Given the description of an element on the screen output the (x, y) to click on. 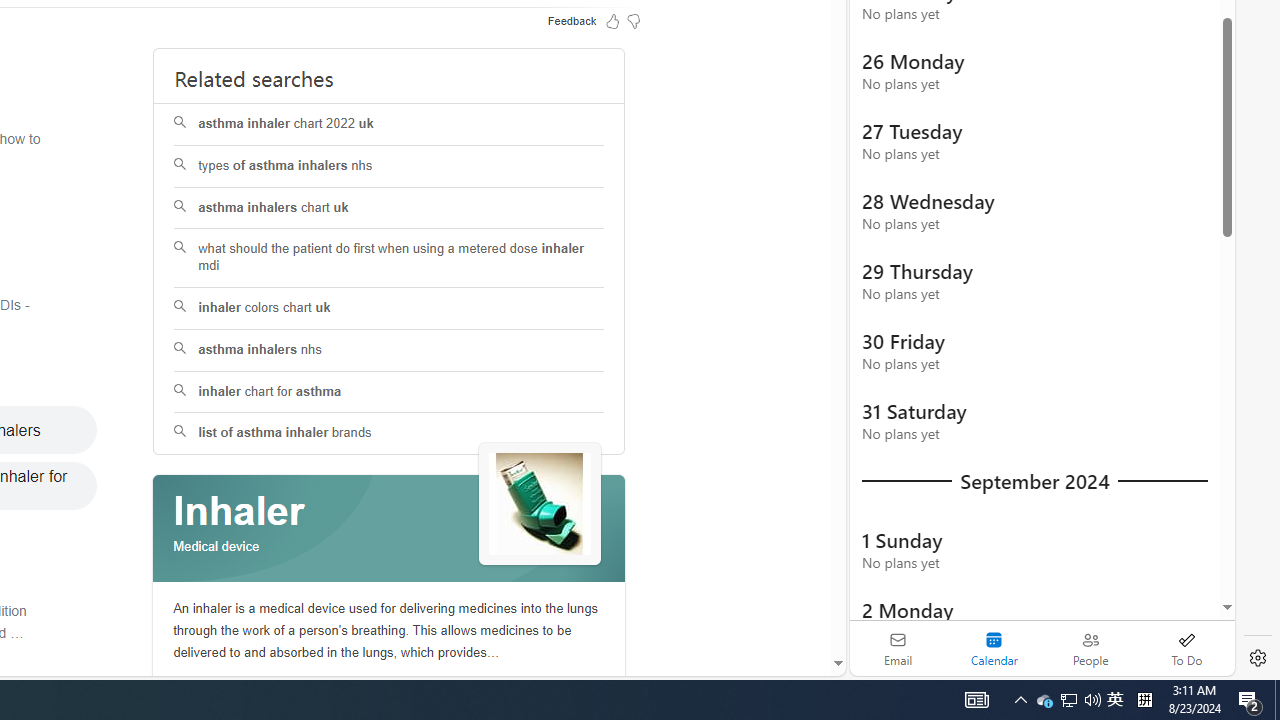
inhaler chart for asthma (388, 391)
list of asthma inhaler brands (389, 434)
AutomationID: mfa_root (762, 603)
list of asthma inhaler brands (388, 434)
asthma inhalers chart uk (389, 208)
inhaler colors chart uk (388, 308)
inhaler colors chart uk (389, 308)
Email (898, 648)
Search more (792, 604)
asthma inhaler chart 2022 uk (388, 123)
asthma inhaler chart 2022 uk (389, 124)
